Given the description of an element on the screen output the (x, y) to click on. 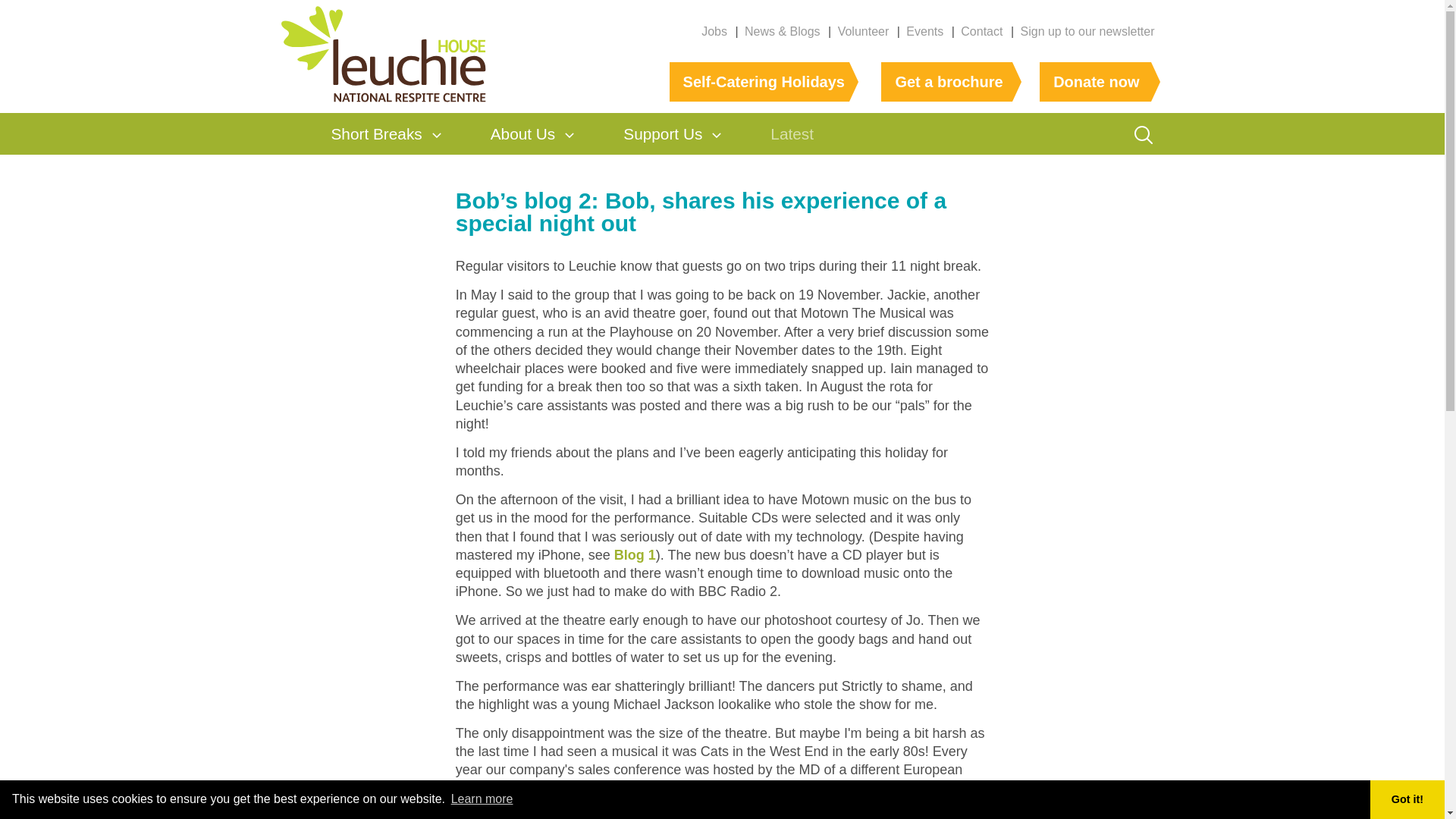
Contact (981, 31)
Self-Catering Holidays (758, 81)
Get a brochure (945, 81)
Jobs (713, 31)
Volunteer (863, 31)
Short Breaks (377, 133)
Learn more (481, 798)
Sign up to our newsletter (1087, 31)
Donate now (1095, 81)
Events (924, 31)
